Given the description of an element on the screen output the (x, y) to click on. 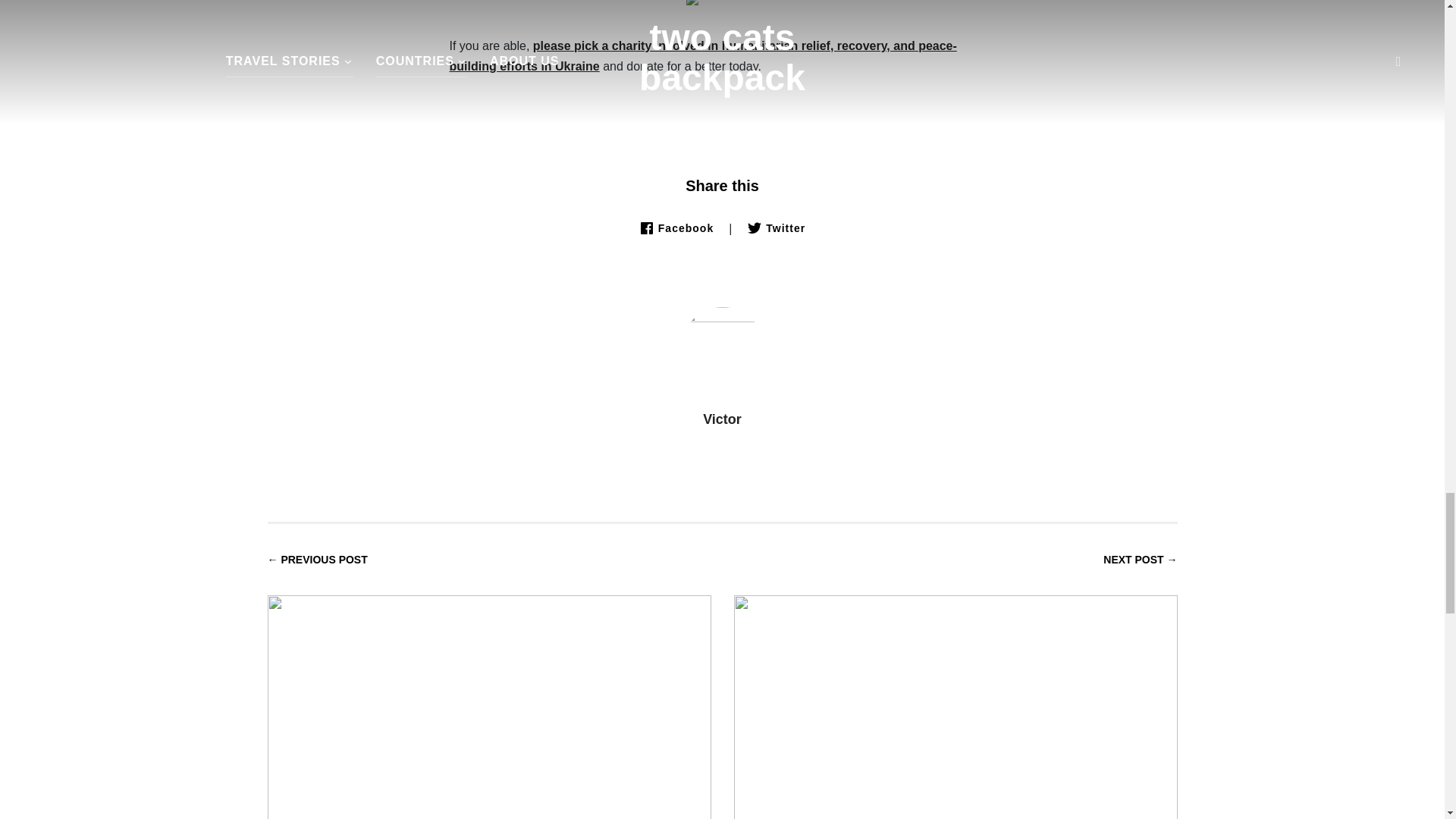
DSC07235 (721, 2)
Share this on Facebook (676, 227)
Tweet this on Twitter (775, 227)
Donbas of My Youth (955, 686)
Posts by Victor (722, 418)
